Given the description of an element on the screen output the (x, y) to click on. 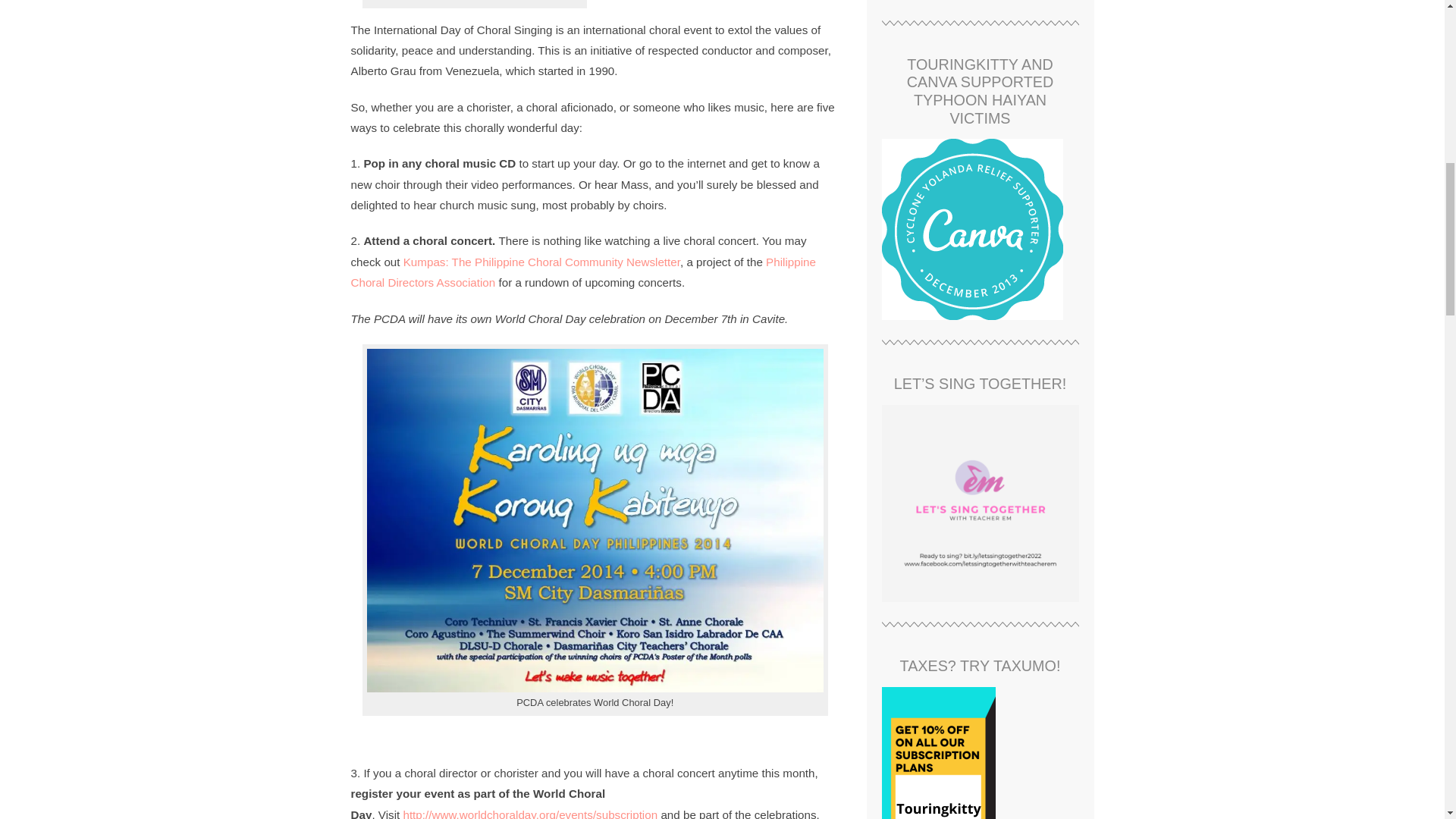
Let's sing together! (979, 502)
Philippine Choral Directors Association (582, 272)
Kumpas: The Philippine Choral Community Newsletter (541, 261)
